Given the description of an element on the screen output the (x, y) to click on. 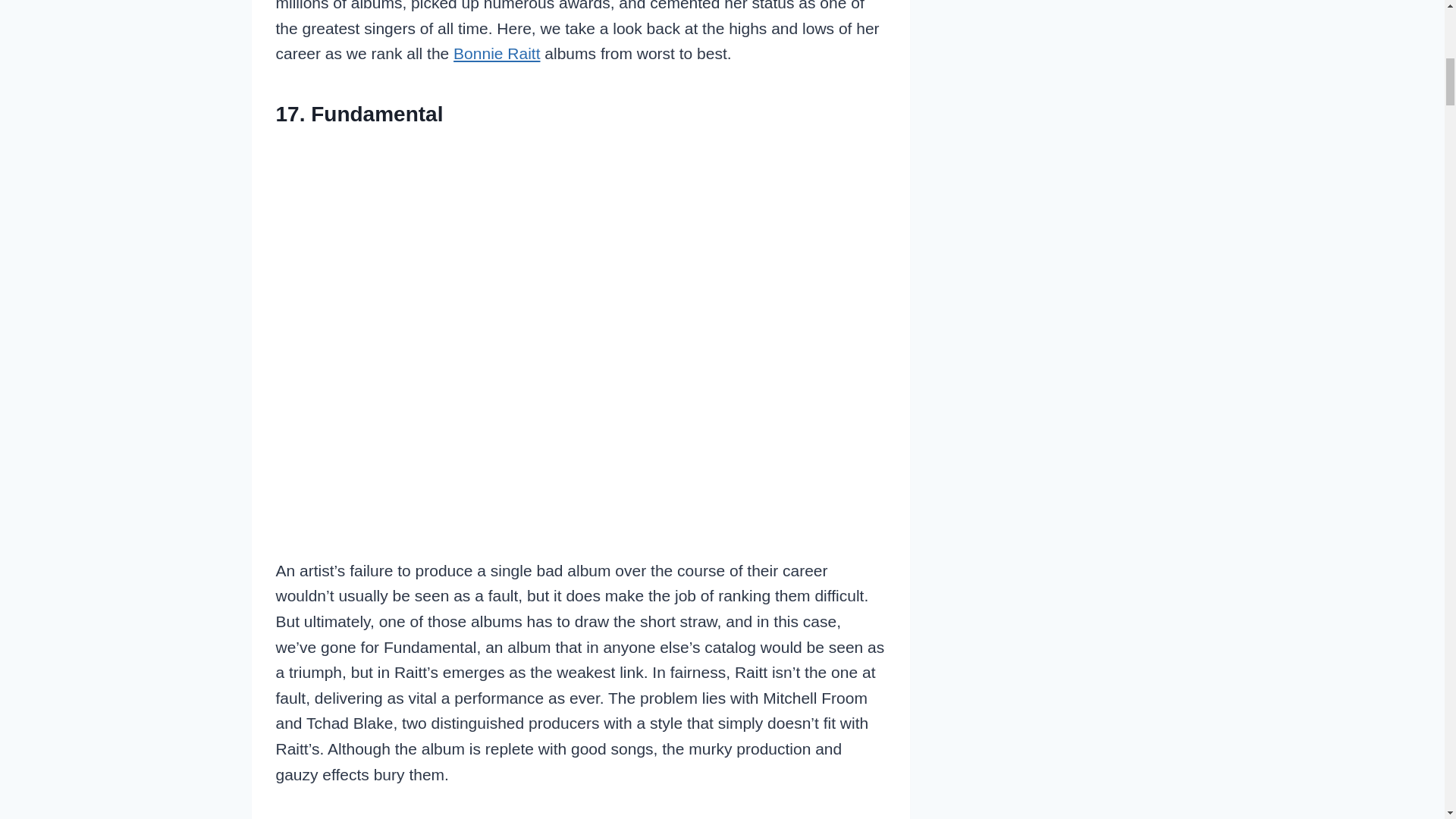
Bonnie Raitt (496, 53)
